Given the description of an element on the screen output the (x, y) to click on. 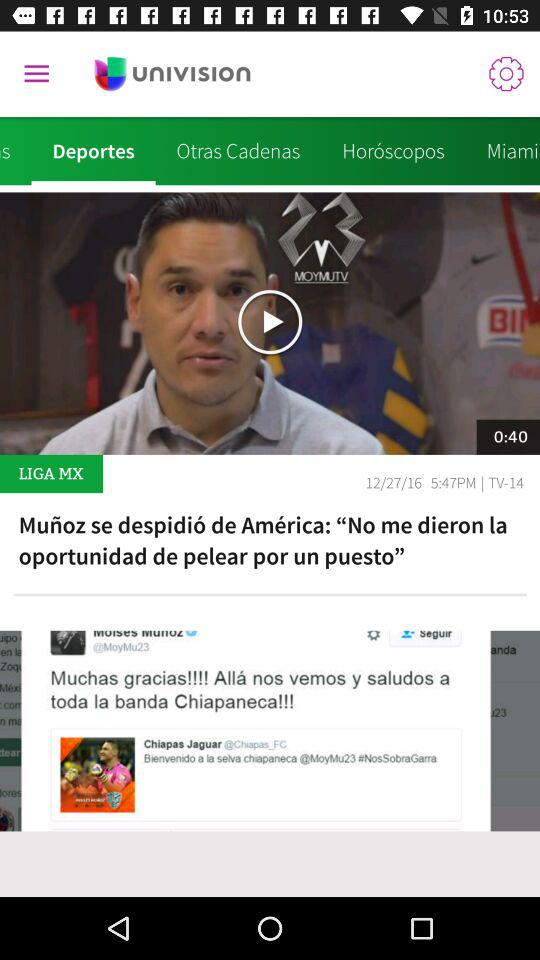
click icon next to otras cadenas item (393, 151)
